Given the description of an element on the screen output the (x, y) to click on. 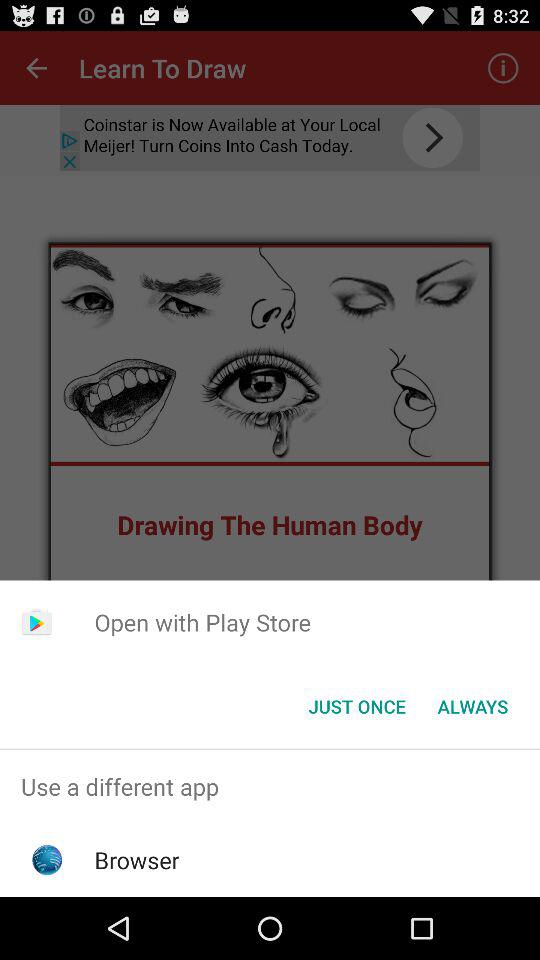
jump to browser app (136, 860)
